Given the description of an element on the screen output the (x, y) to click on. 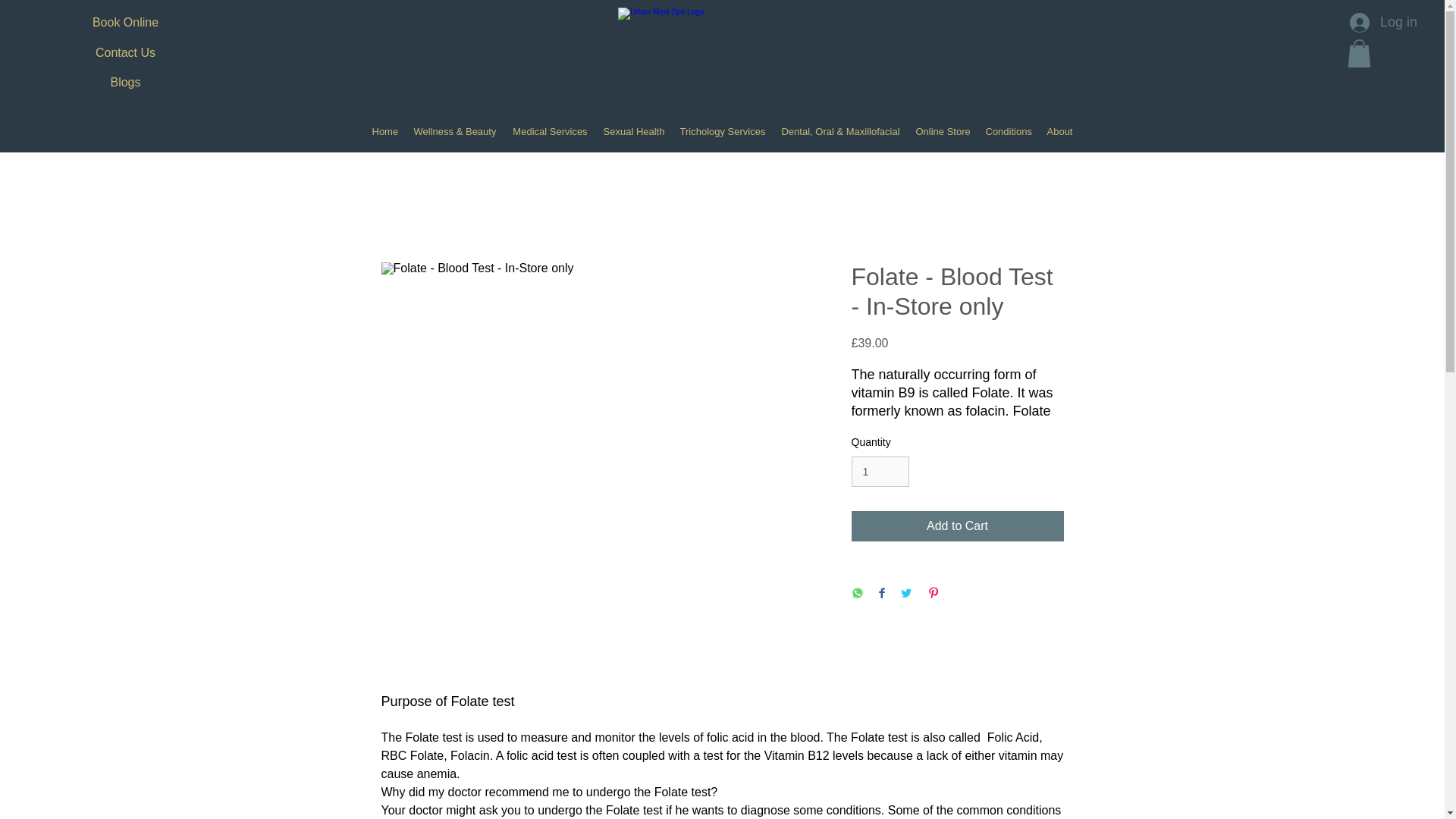
Blogs (125, 82)
Medical Services (550, 132)
Log in (1368, 22)
Online Store (943, 132)
1 (879, 471)
Sexual Health (633, 132)
Trichology Services (722, 132)
Contact Us (125, 52)
Conditions (1008, 132)
Home (384, 132)
